Given the description of an element on the screen output the (x, y) to click on. 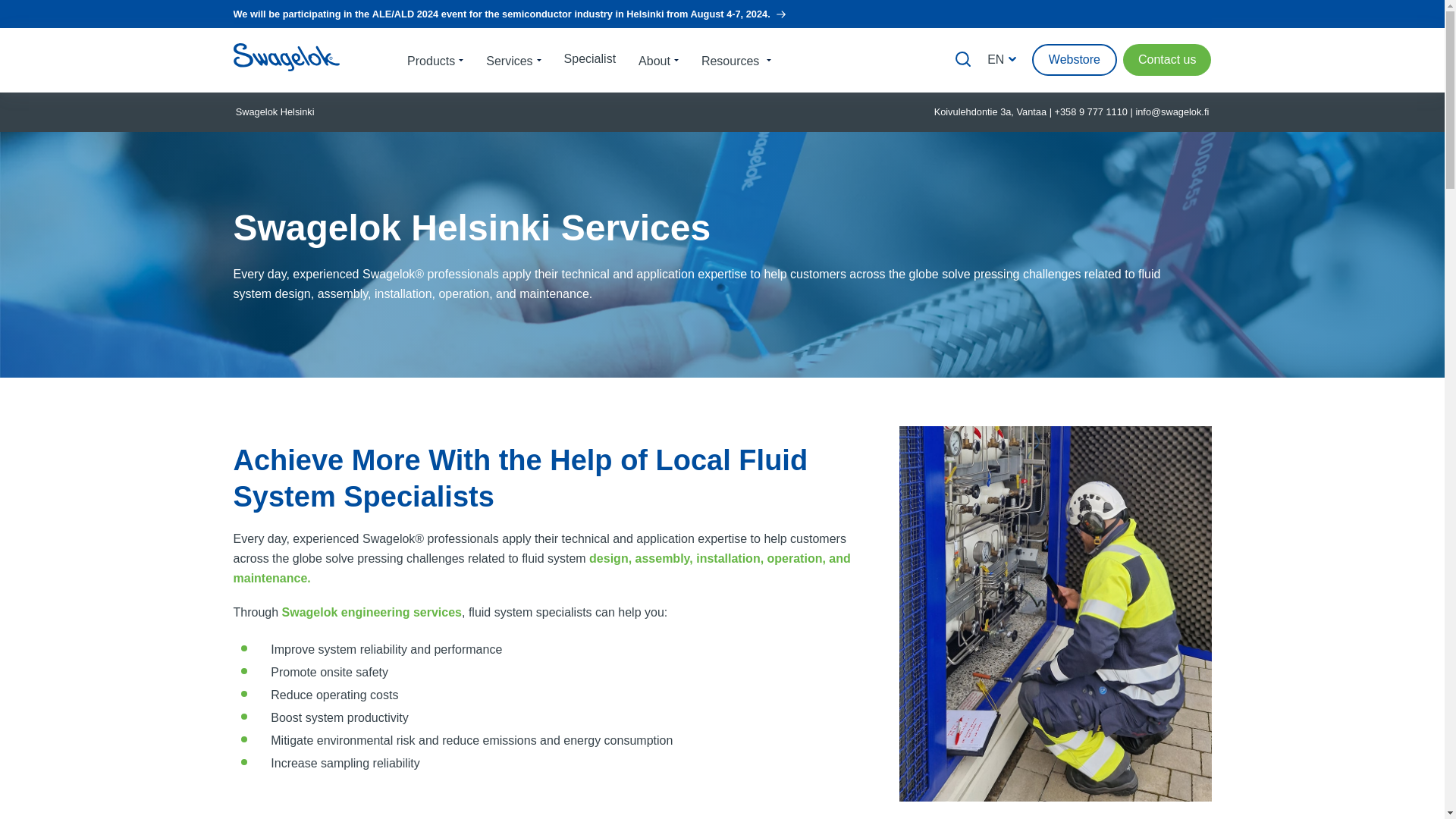
Specialist (589, 58)
About (657, 59)
Products (434, 59)
Resources (736, 59)
Services (513, 59)
